Given the description of an element on the screen output the (x, y) to click on. 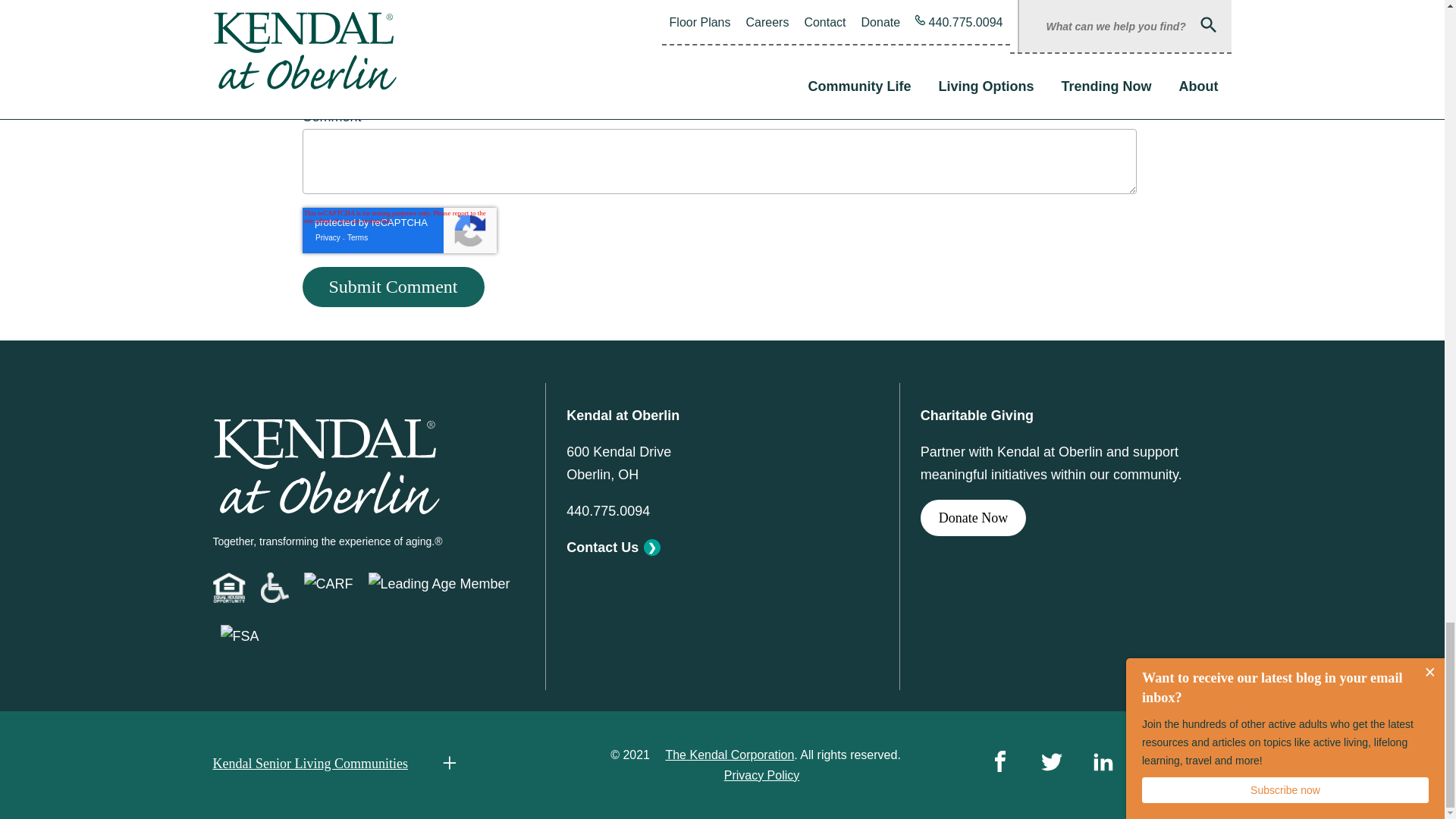
Handicap Accessible (274, 587)
Leading Age Member (439, 583)
CARF (327, 583)
reCAPTCHA (398, 230)
Equal Housing Opportunity (228, 587)
Submit Comment (392, 286)
FSA (239, 635)
